Given the description of an element on the screen output the (x, y) to click on. 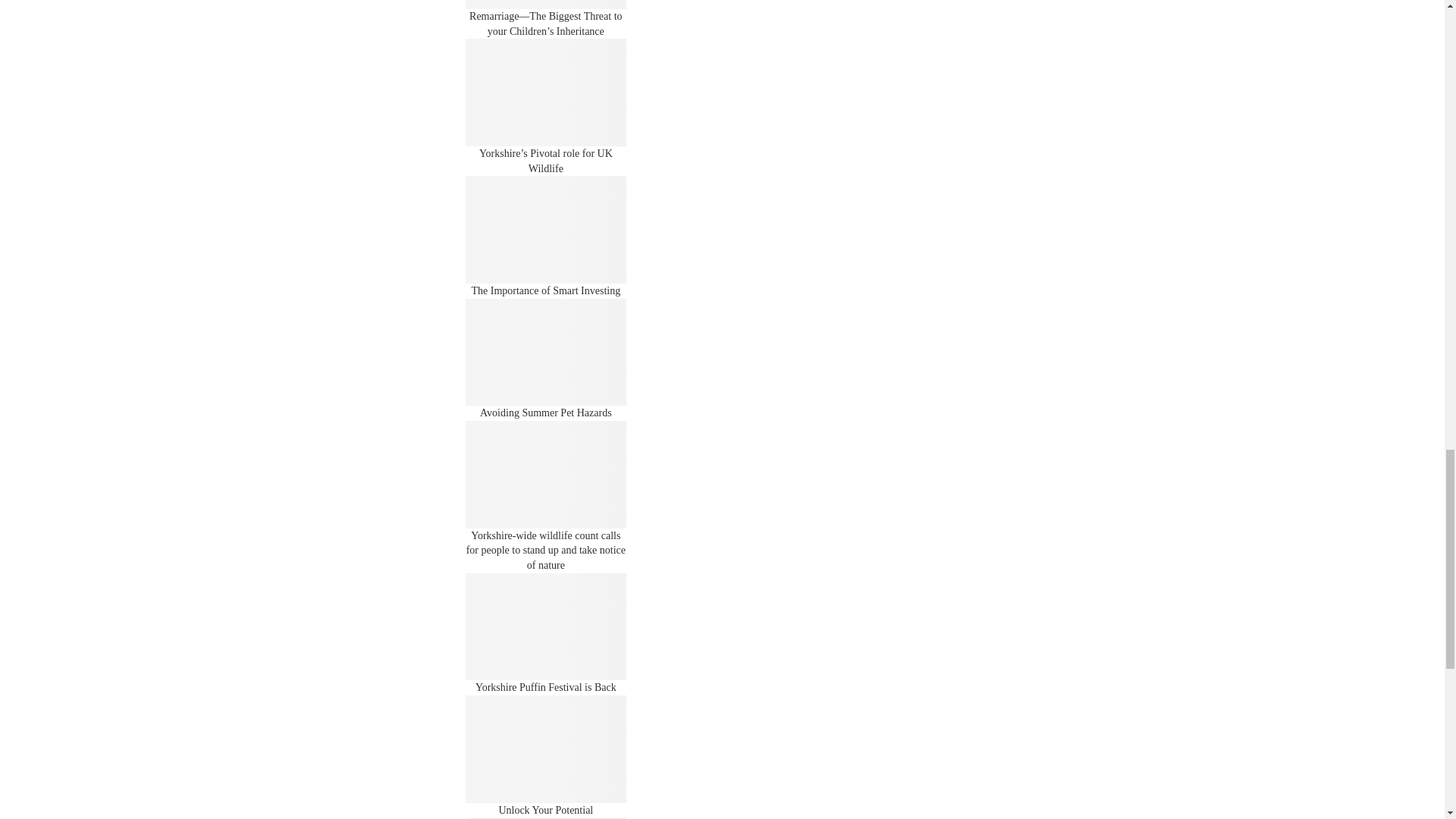
Unlock Your Potential (546, 749)
The Importance of Smart Investing (546, 229)
Yorkshire Puffin Festival is Back (546, 626)
Avoiding Summer Pet Hazards (546, 352)
